Given the description of an element on the screen output the (x, y) to click on. 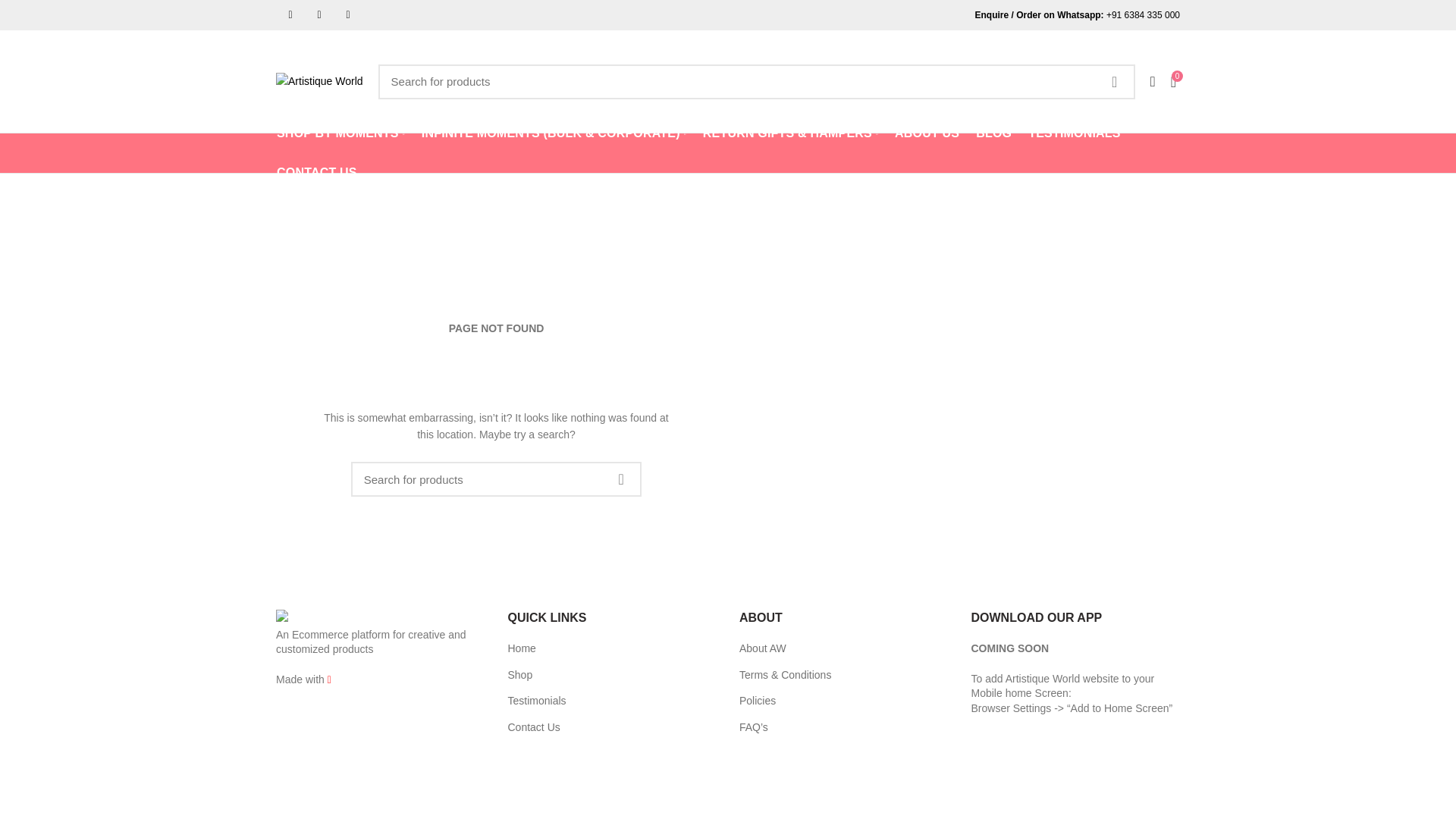
Instagram (318, 15)
SEARCH (1115, 80)
Twitter (290, 15)
SHOP BY MOMENTS (340, 133)
Log in (1030, 306)
